Given the description of an element on the screen output the (x, y) to click on. 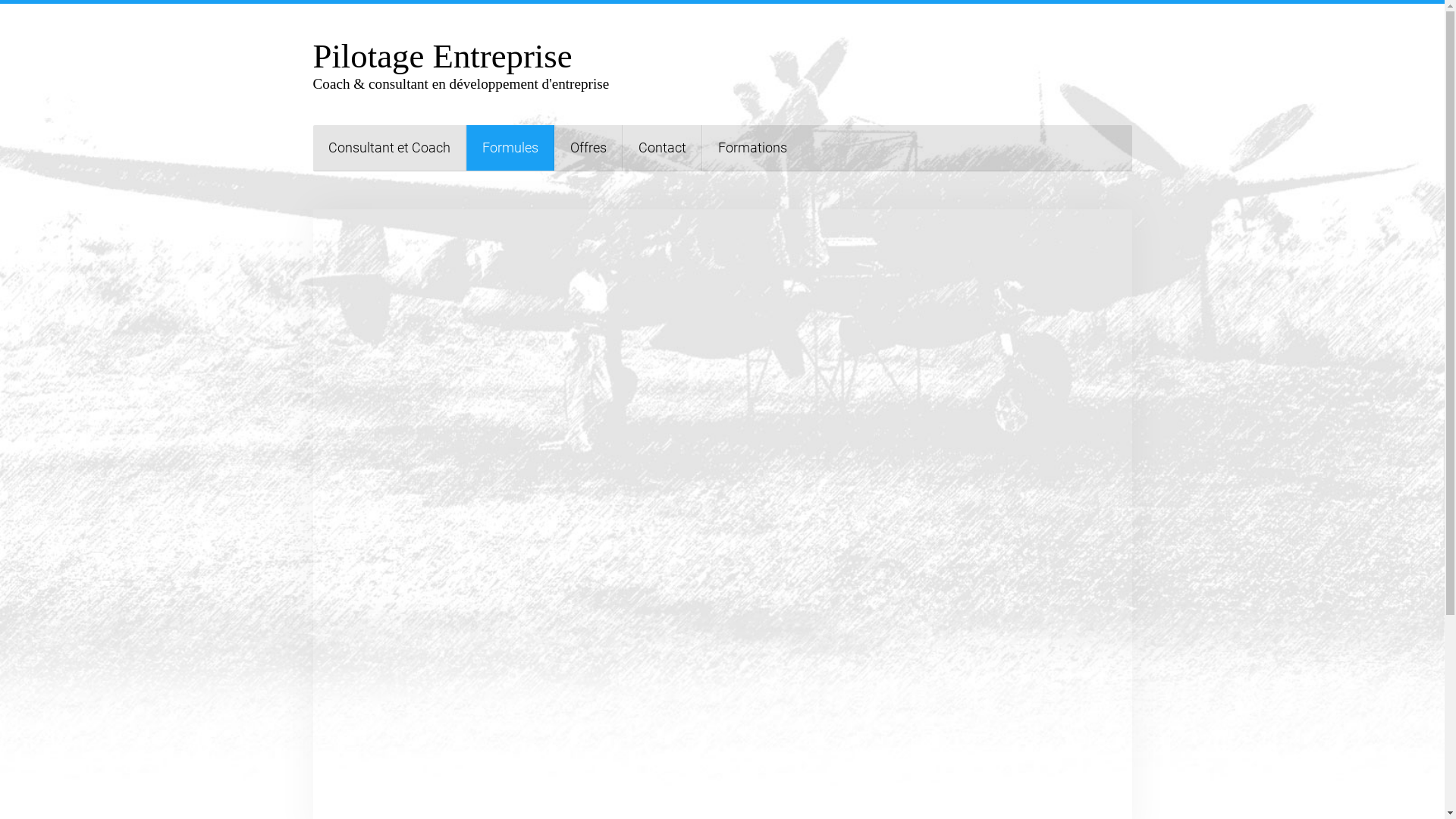
Offres Element type: text (587, 147)
Formules Element type: text (509, 147)
Formations Element type: text (752, 147)
Contact Element type: text (661, 147)
Consultant et Coach Element type: text (388, 147)
